Given the description of an element on the screen output the (x, y) to click on. 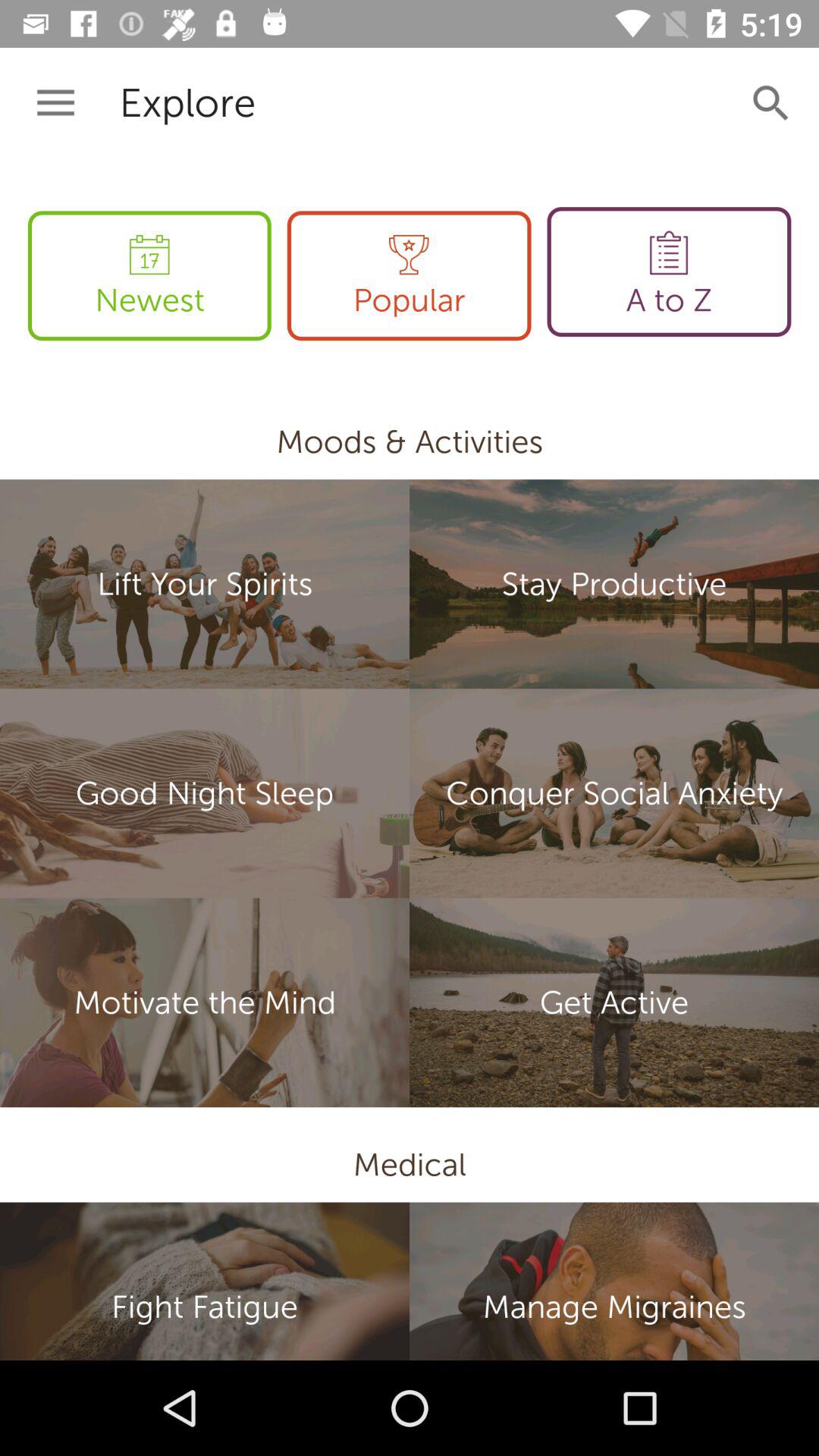
jump to the popular icon (409, 275)
